Given the description of an element on the screen output the (x, y) to click on. 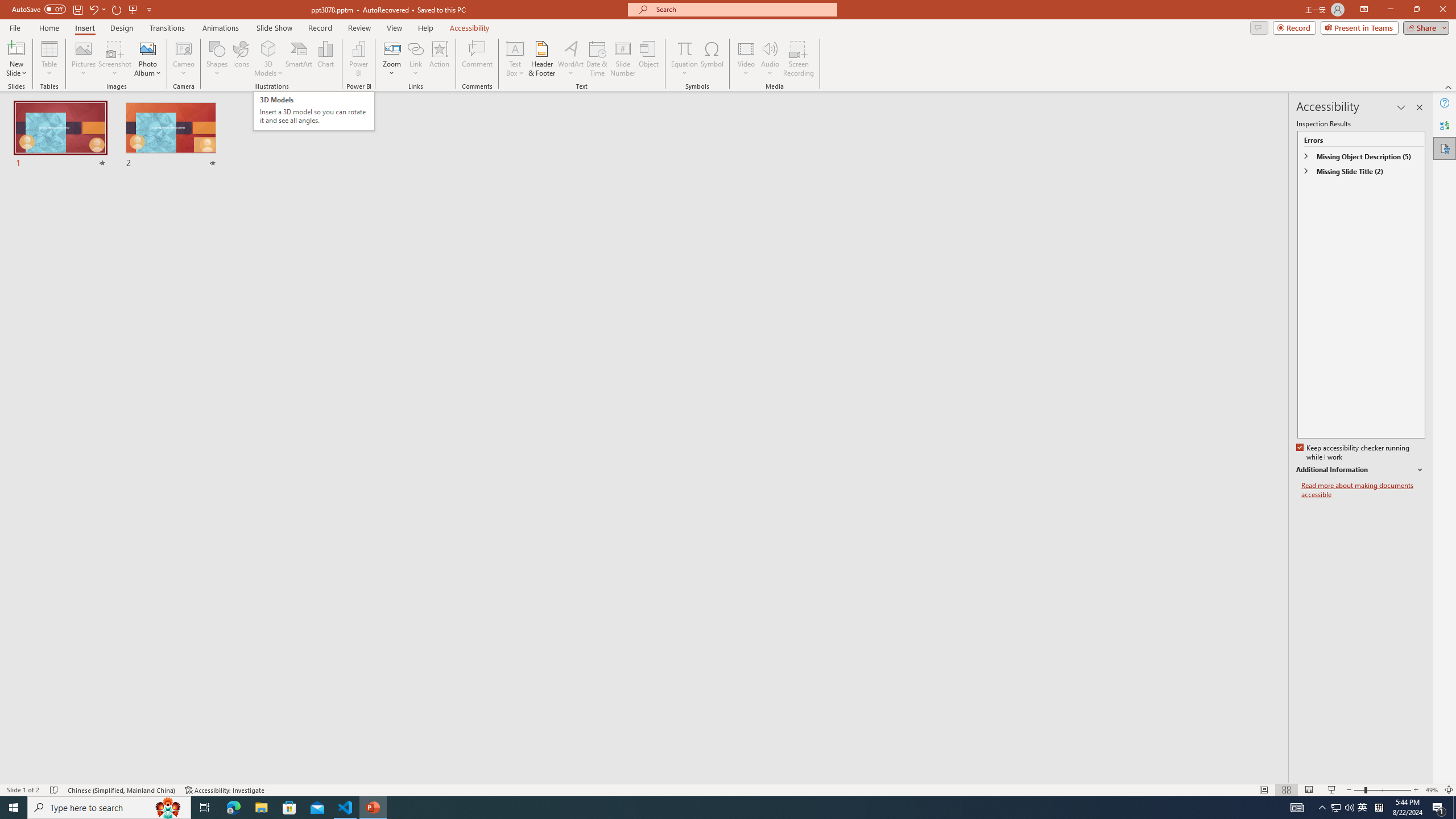
Link (415, 58)
Additional Information (1360, 469)
Read more about making documents accessible (1363, 489)
Table (49, 58)
3D Models (268, 58)
Photo Album... (147, 58)
Comment (476, 58)
